Given the description of an element on the screen output the (x, y) to click on. 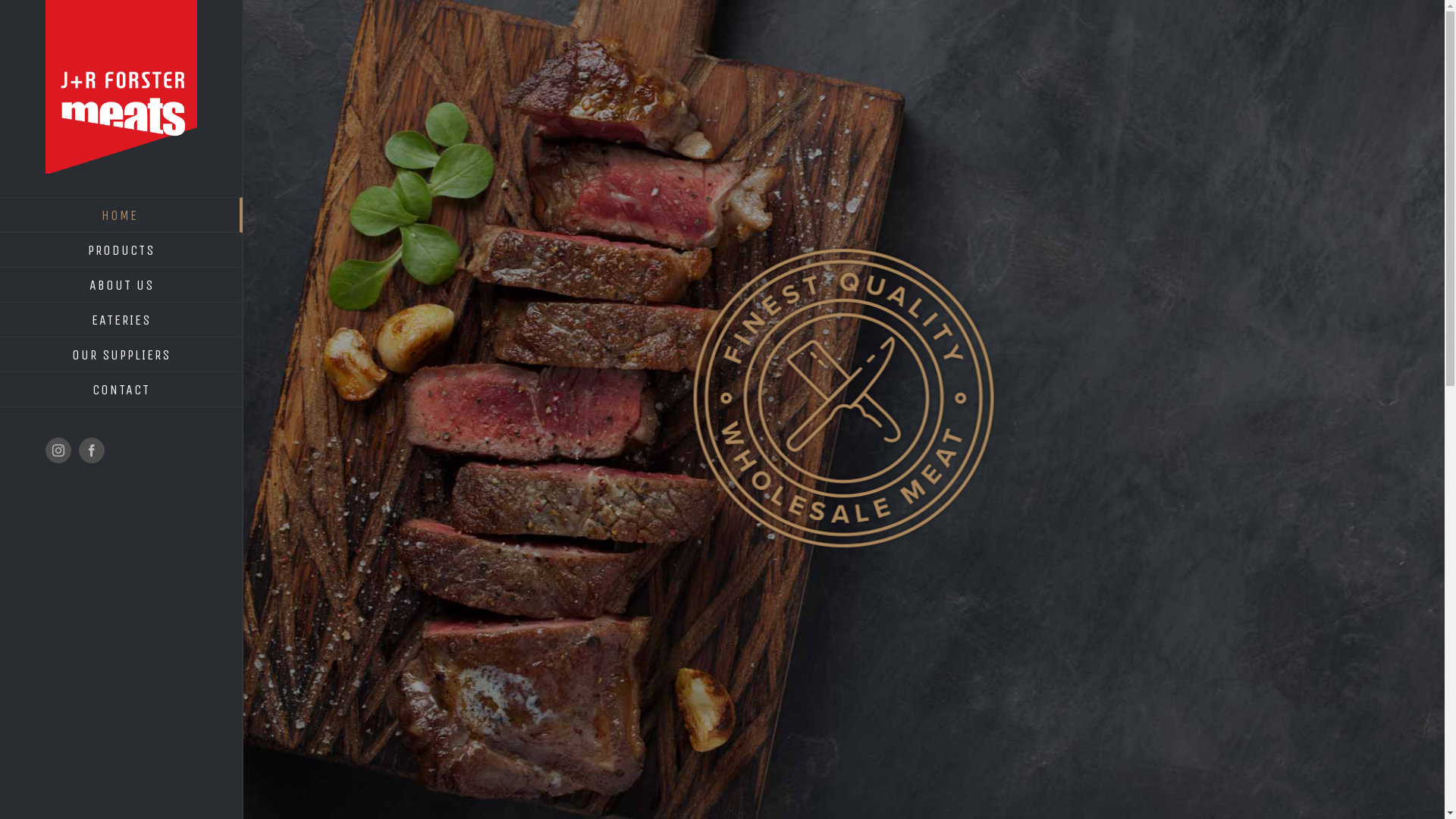
CONTACT Element type: text (121, 389)
EATERIES Element type: text (121, 319)
Facebook Element type: text (91, 450)
ABOUT US Element type: text (121, 284)
HOME Element type: text (121, 214)
Instagram Element type: text (58, 450)
OUR SUPPLIERS Element type: text (121, 354)
PRODUCTS Element type: text (121, 249)
